Given the description of an element on the screen output the (x, y) to click on. 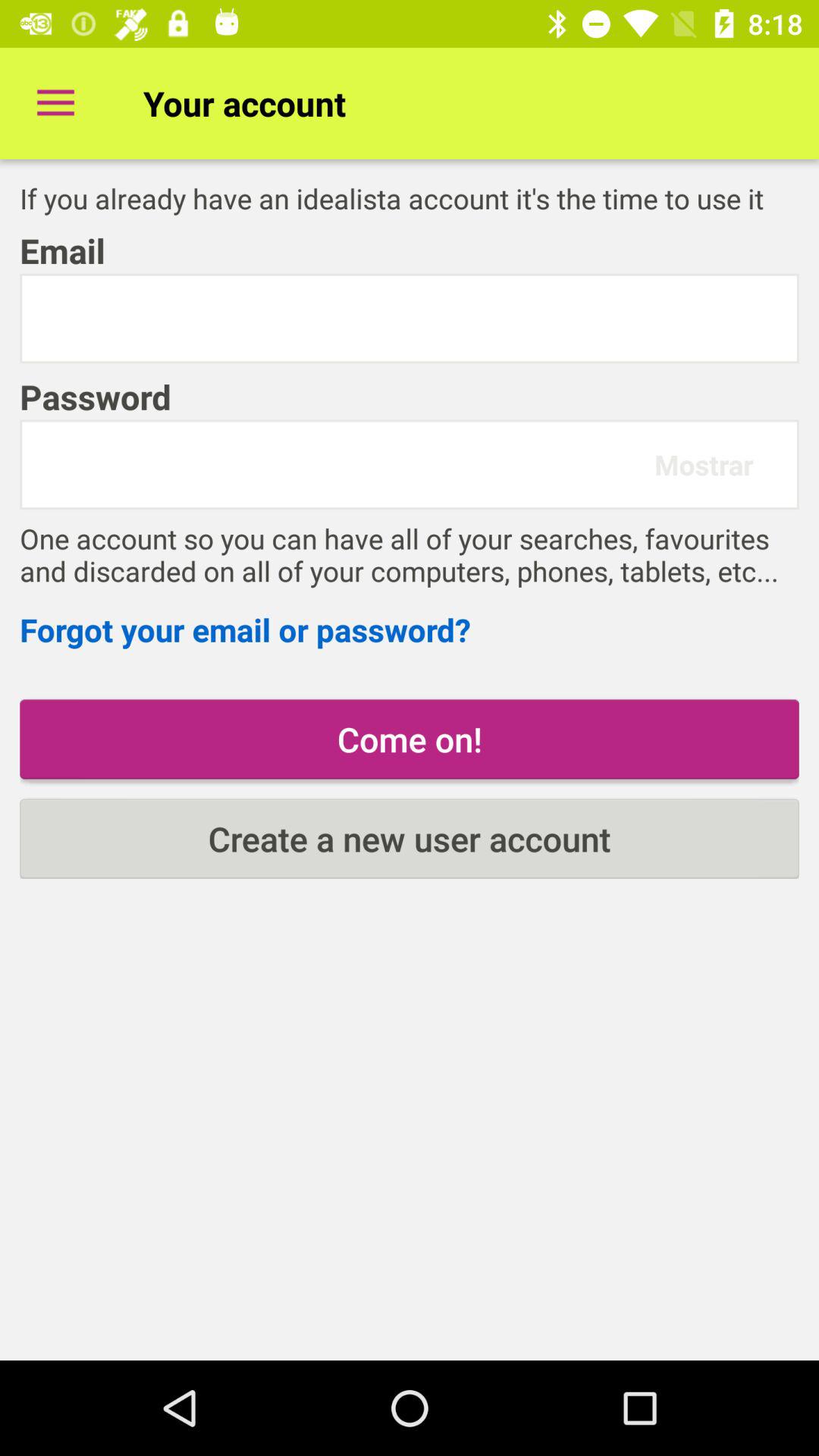
turn on the icon below the come on! (409, 838)
